Given the description of an element on the screen output the (x, y) to click on. 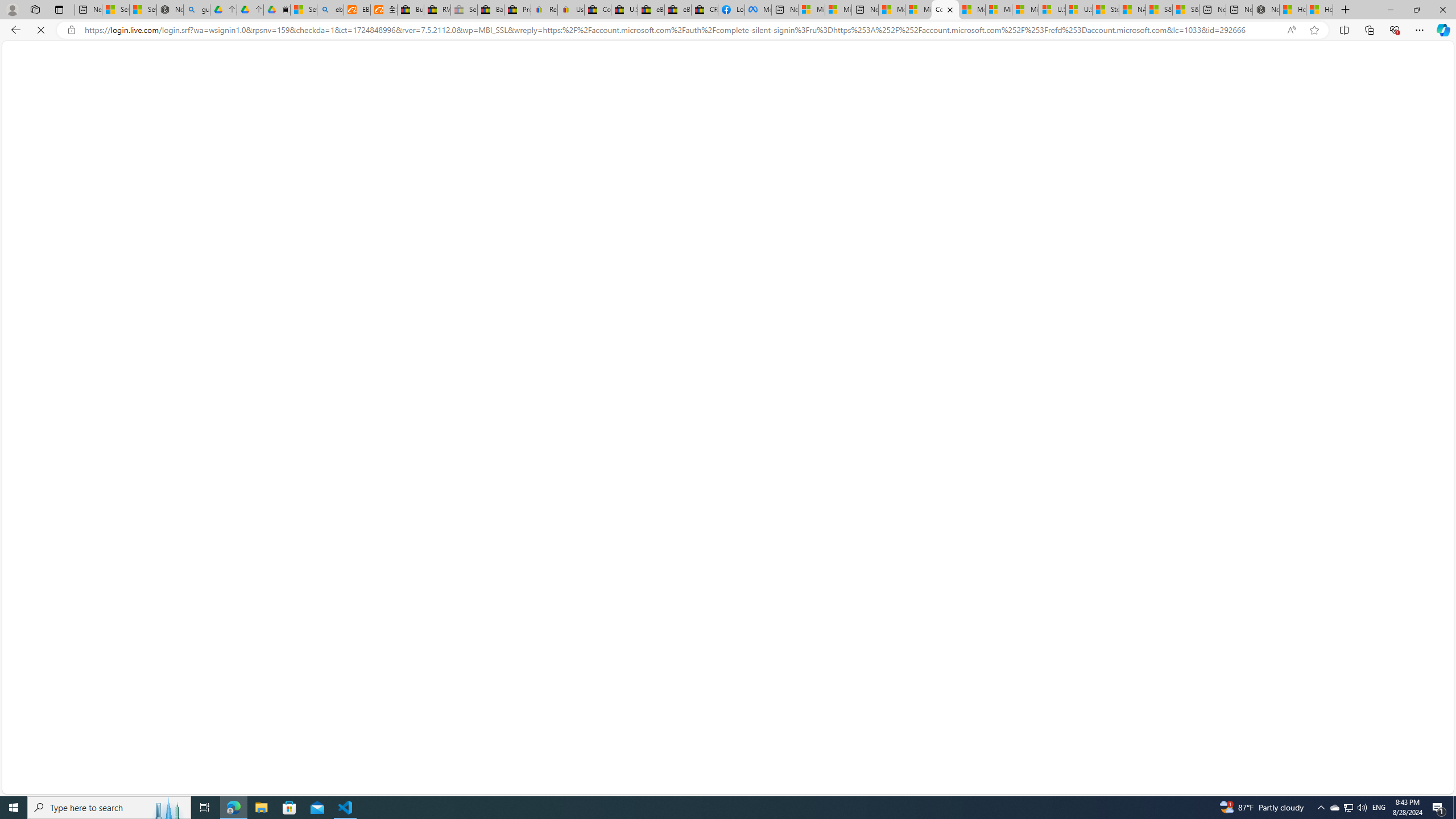
U.S. State Privacy Disclosures - eBay Inc. (623, 9)
User Privacy Notice | eBay (571, 9)
Register: Create a personal eBay account (543, 9)
